Given the description of an element on the screen output the (x, y) to click on. 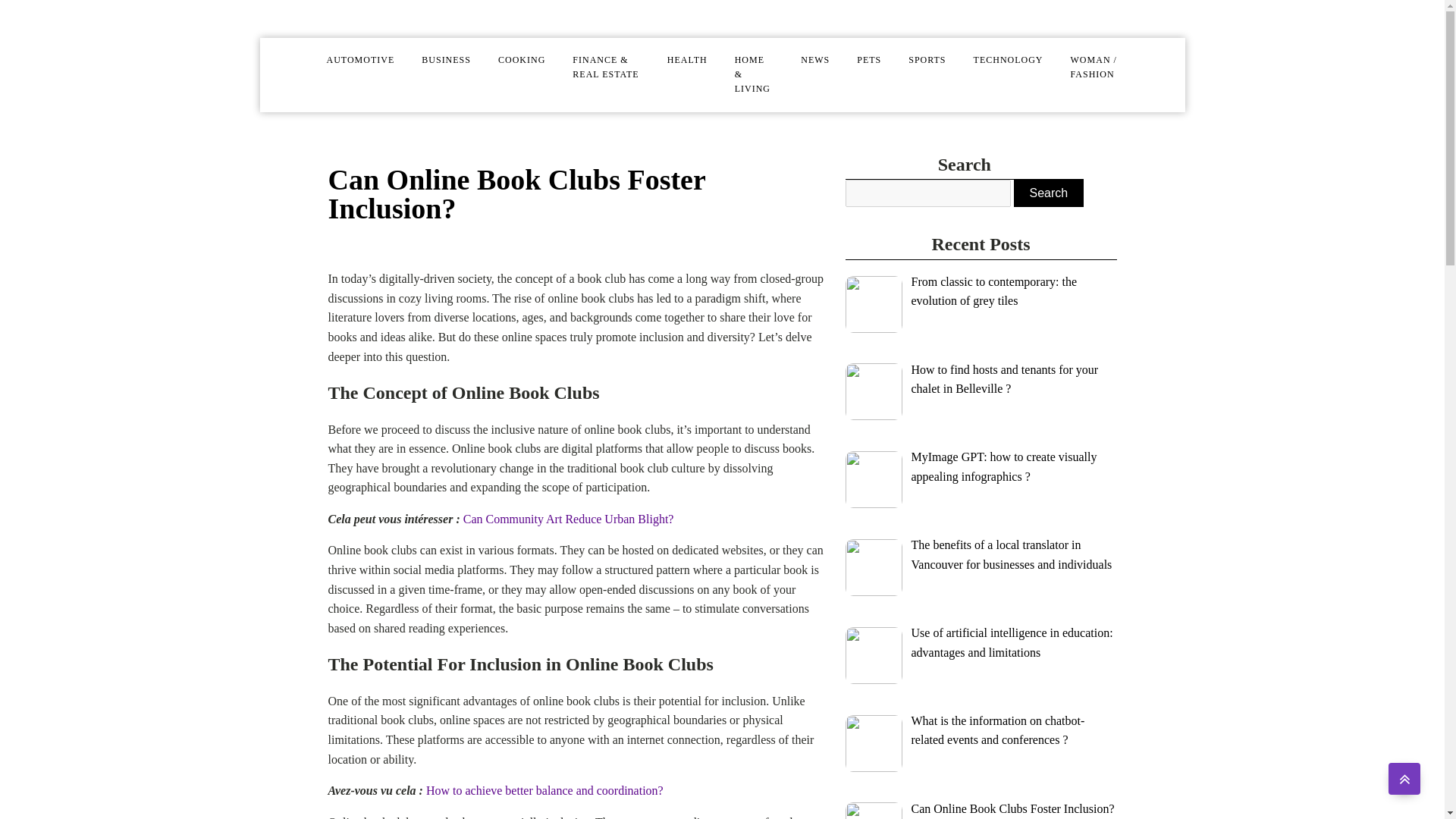
NEWS (815, 59)
HEALTH (686, 59)
How to achieve better balance and coordination? (544, 789)
Can Community Art Reduce Urban Blight? (568, 518)
How to achieve better balance and coordination? (544, 789)
SPORTS (927, 59)
PETS (869, 59)
BUSINESS (445, 59)
AUTOMOTIVE (360, 59)
Can Community Art Reduce Urban Blight? (568, 518)
COOKING (521, 59)
